Given the description of an element on the screen output the (x, y) to click on. 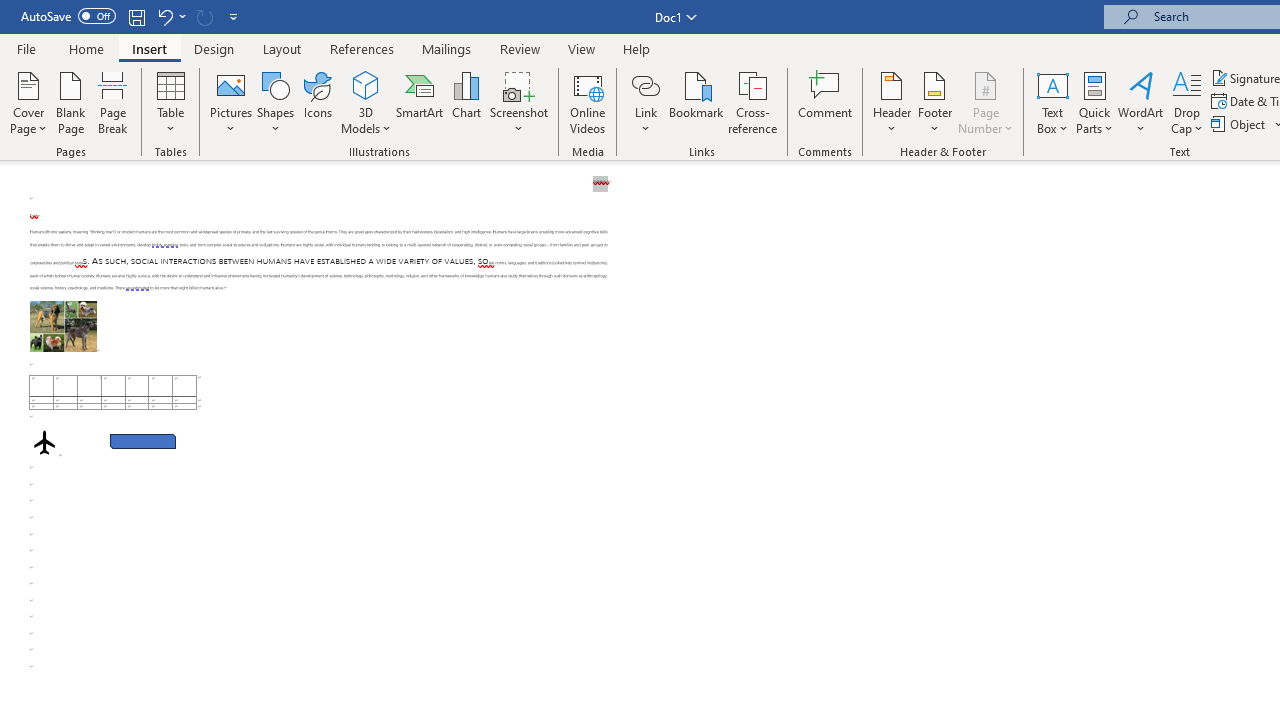
More Options (645, 121)
Cross-reference... (752, 102)
Icons (317, 102)
Save (136, 15)
Help (637, 48)
Link (645, 102)
